Given the description of an element on the screen output the (x, y) to click on. 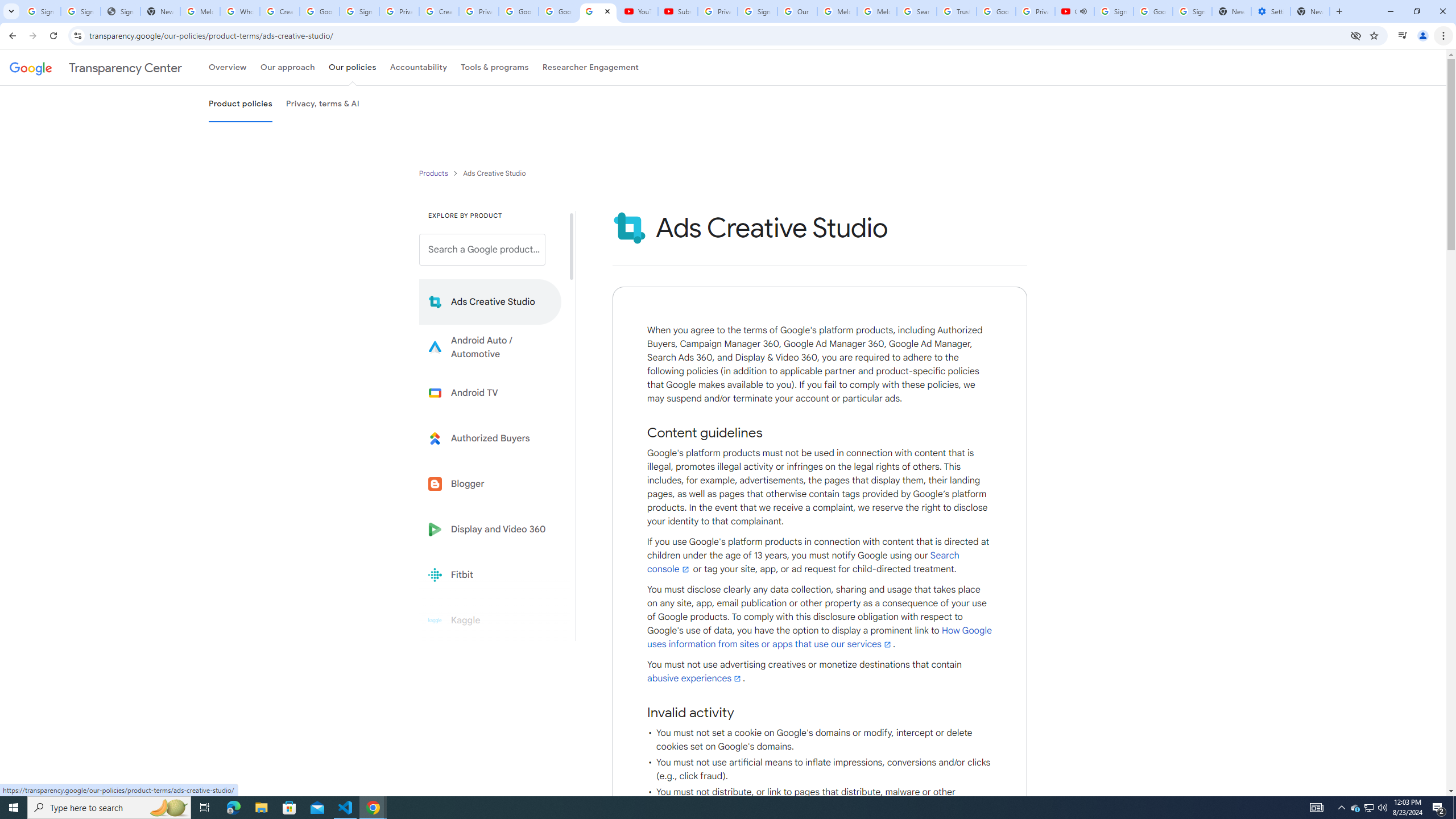
Create your Google Account (438, 11)
Fitbit (490, 574)
Learn more about Ads Creative Studio (490, 302)
Fitbit (490, 574)
Our policies (351, 67)
Settings - Addresses and more (1270, 11)
Search console (802, 562)
Learn more about Authorized Buyers (490, 438)
